Given the description of an element on the screen output the (x, y) to click on. 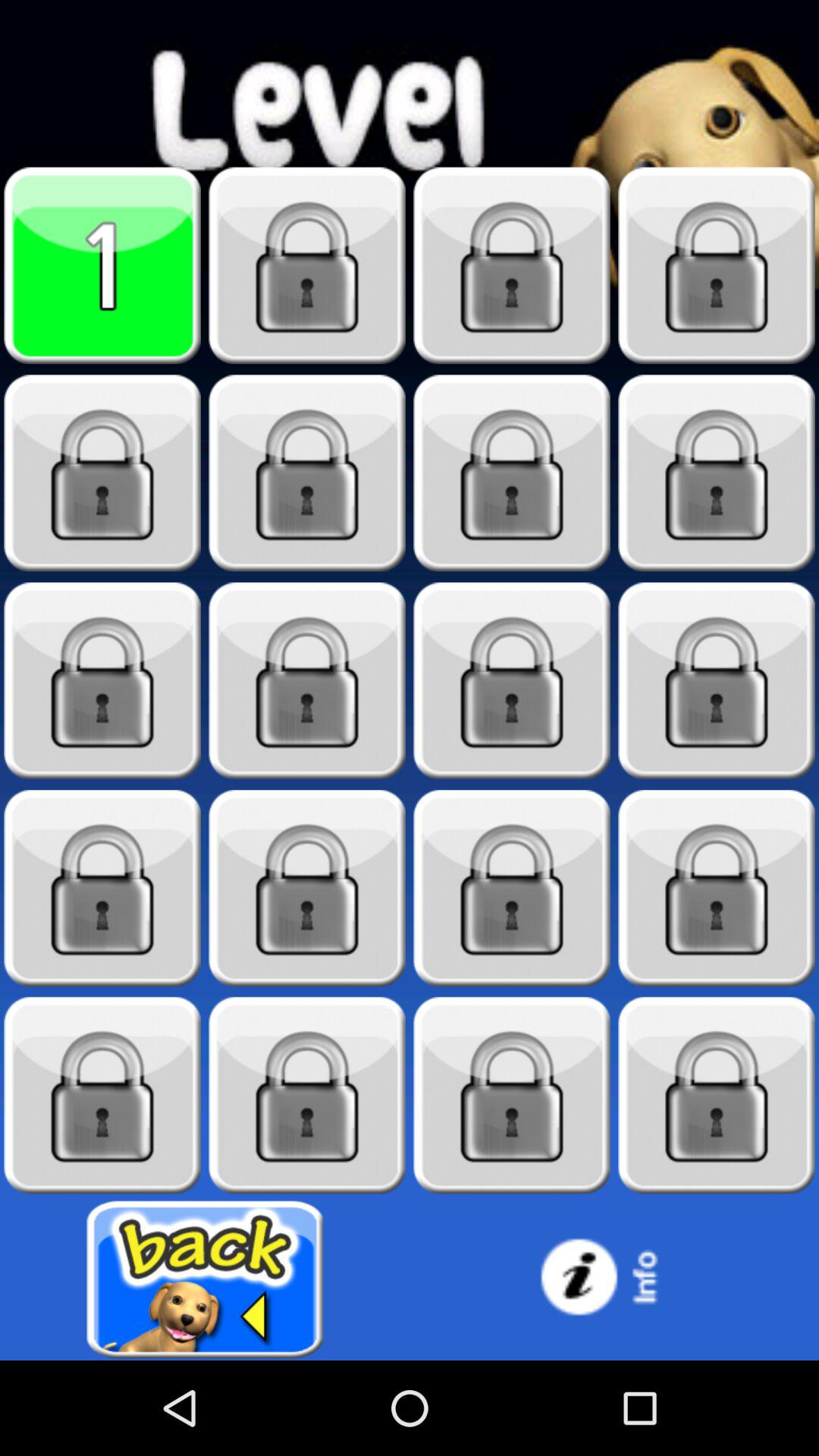
hover over locked option (511, 887)
